Given the description of an element on the screen output the (x, y) to click on. 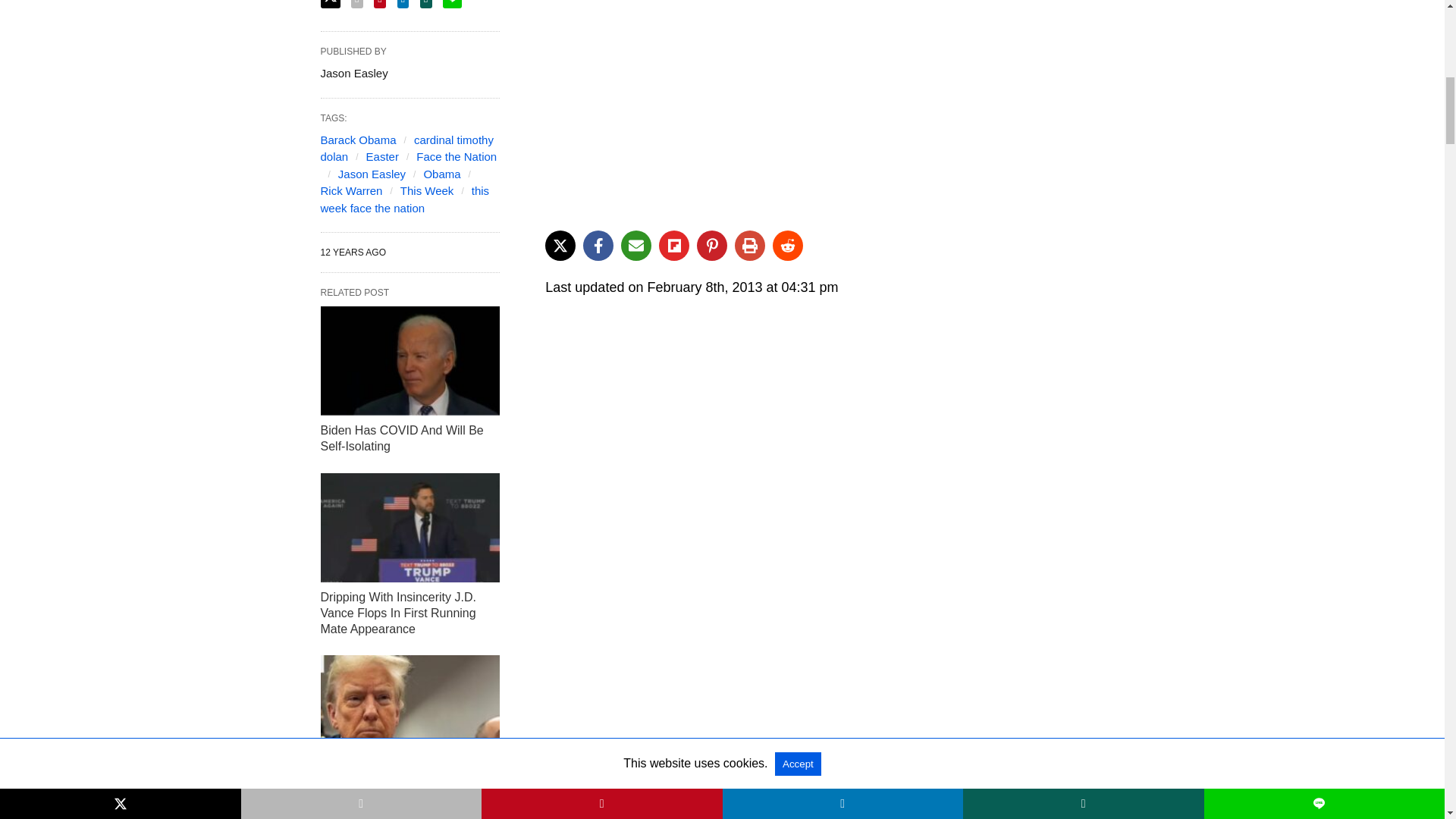
Easter (382, 155)
Face the Nation (456, 155)
Barack Obama (358, 139)
line share (451, 4)
cardinal timothy dolan (406, 148)
3rd party ad content (834, 109)
